Given the description of an element on the screen output the (x, y) to click on. 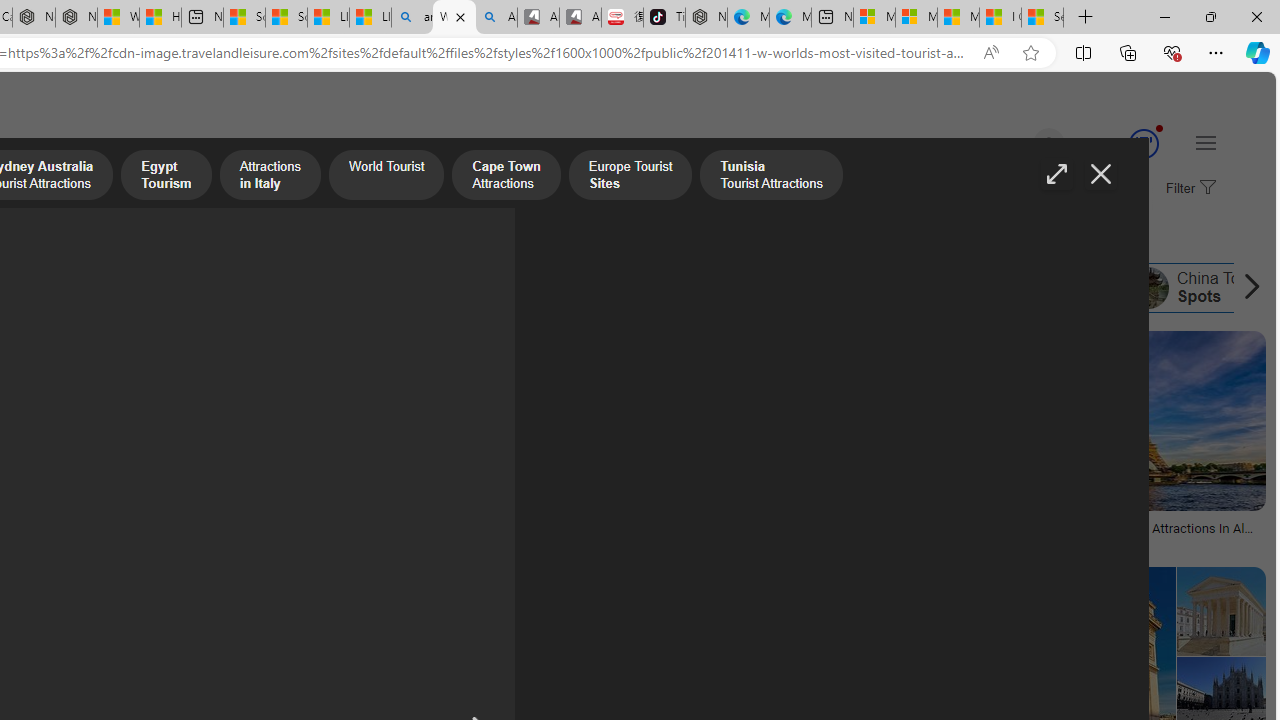
TikTok (663, 17)
inf-inet.com (484, 541)
Tunisia Tourist Attractions (522, 287)
Scroll right (1246, 287)
Jetsetter (268, 542)
Microsoft account | Privacy (916, 17)
CBS News (853, 542)
